Given the description of an element on the screen output the (x, y) to click on. 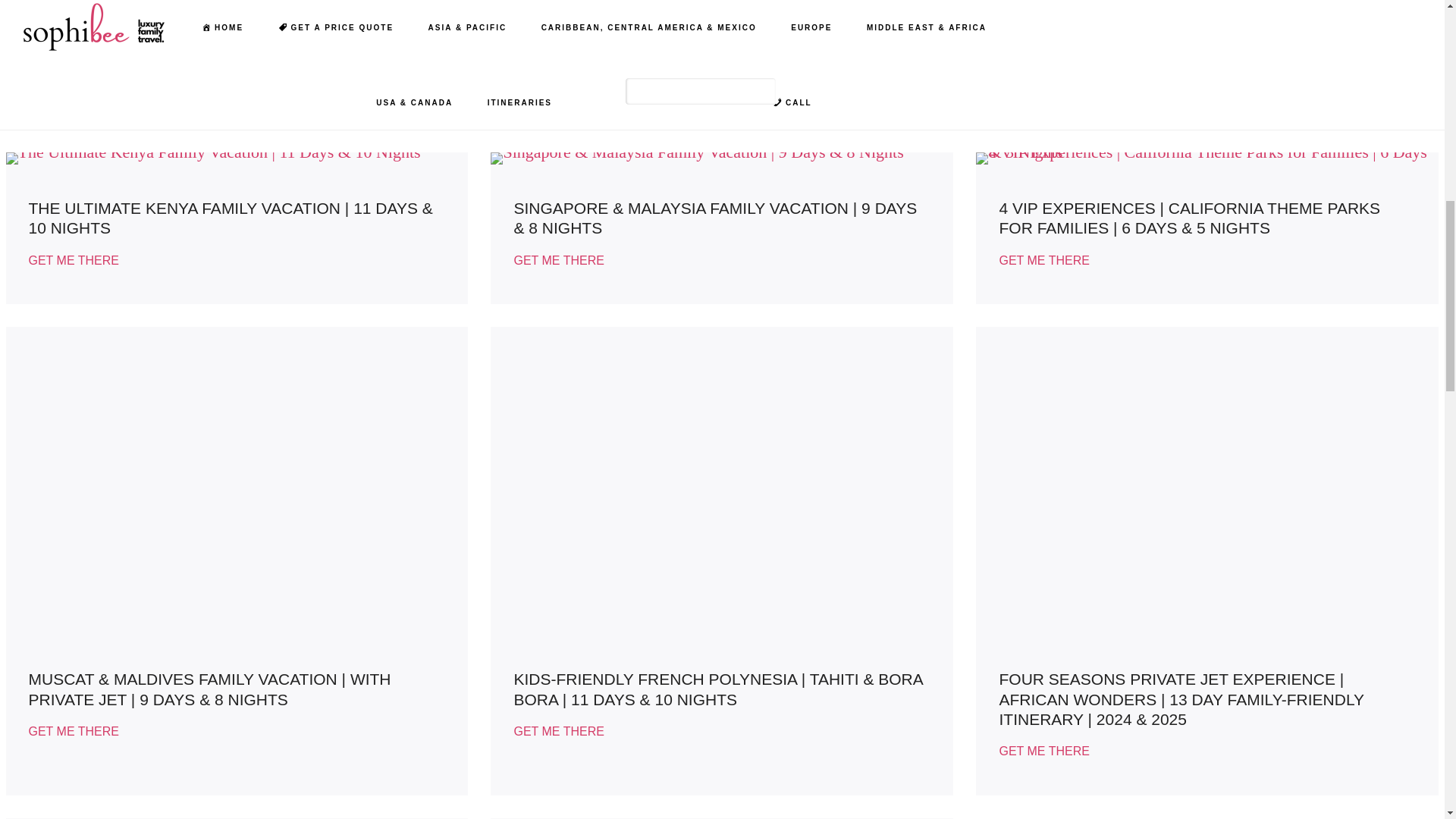
GET ME THERE (558, 260)
GET ME THERE (74, 86)
GET ME THERE (558, 66)
GET ME THERE (74, 260)
GET ME THERE (1043, 86)
